Given the description of an element on the screen output the (x, y) to click on. 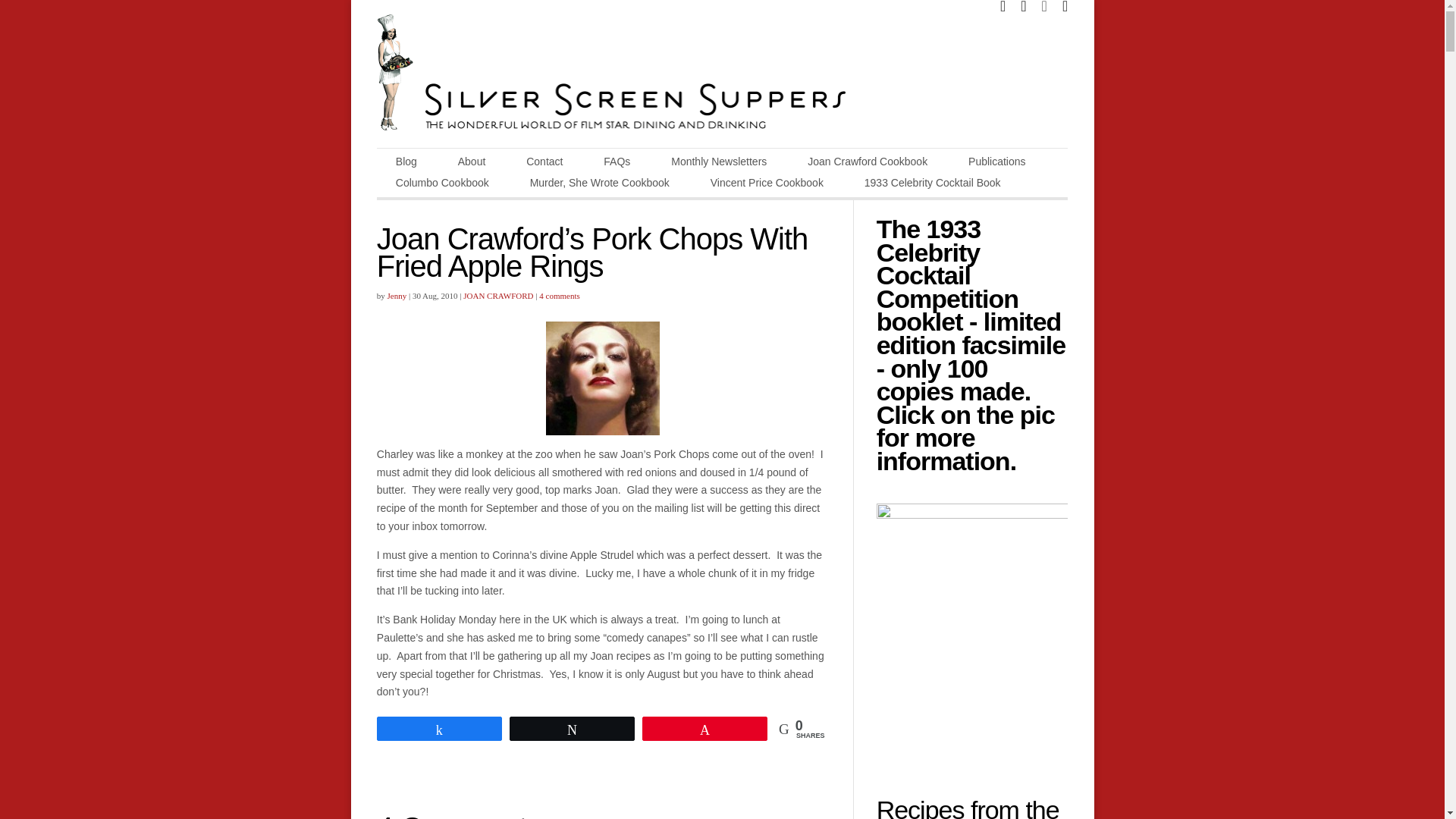
Monthly Newsletters (719, 166)
Posts by Jenny (397, 295)
About (472, 166)
Joan Crawford Cookbook (867, 166)
Murder, She Wrote Cookbook (599, 187)
FAQs (617, 166)
Joan Crawfordf (602, 377)
Blog (406, 166)
Jenny (397, 295)
Vincent Price Cookbook (767, 187)
